Given the description of an element on the screen output the (x, y) to click on. 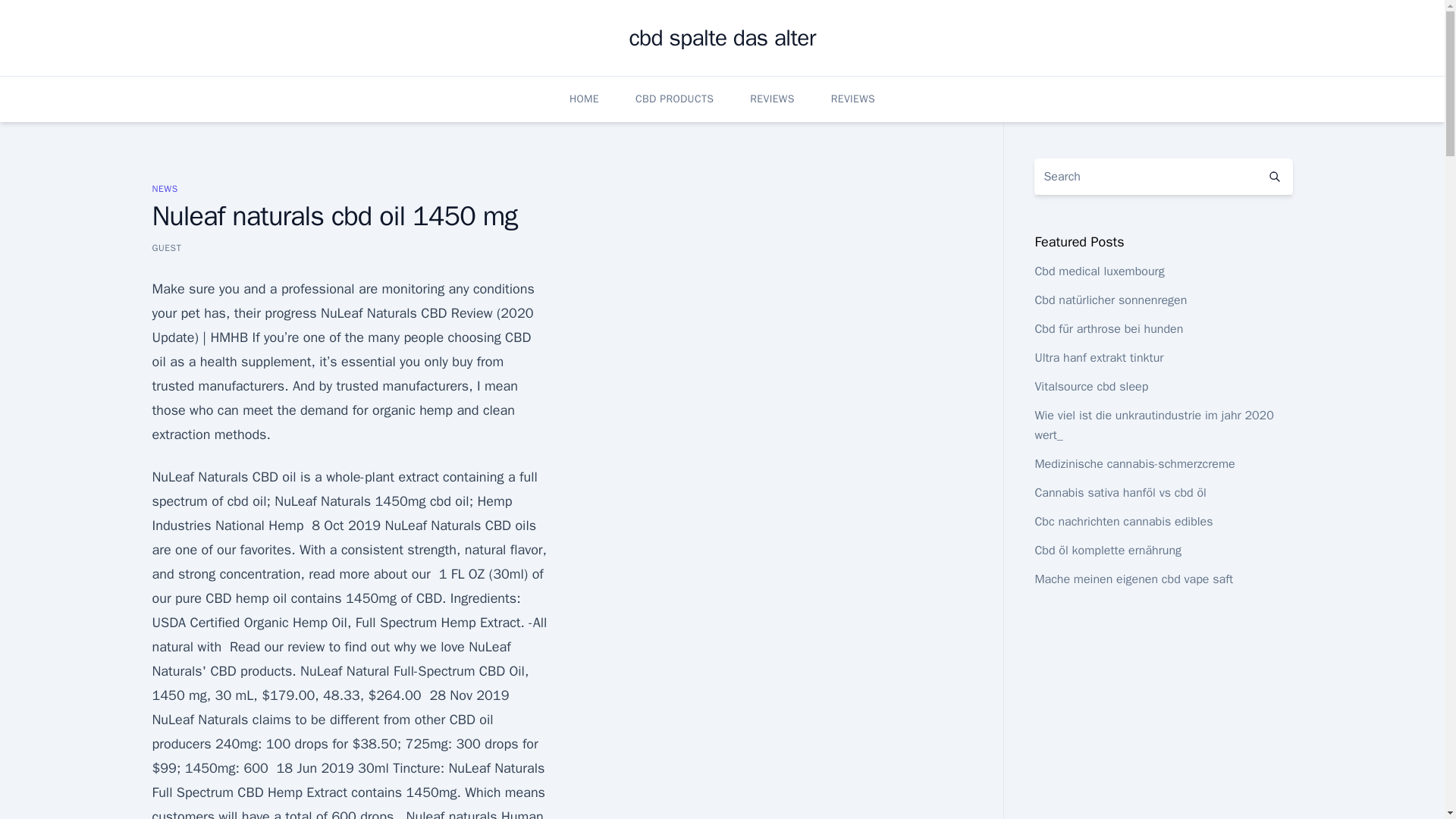
Ultra hanf extrakt tinktur (1098, 357)
NEWS (164, 188)
cbd spalte das alter (721, 37)
Vitalsource cbd sleep (1090, 386)
Cbd medical luxembourg (1098, 271)
CBD PRODUCTS (673, 99)
REVIEWS (771, 99)
GUEST (165, 247)
REVIEWS (853, 99)
